Given the description of an element on the screen output the (x, y) to click on. 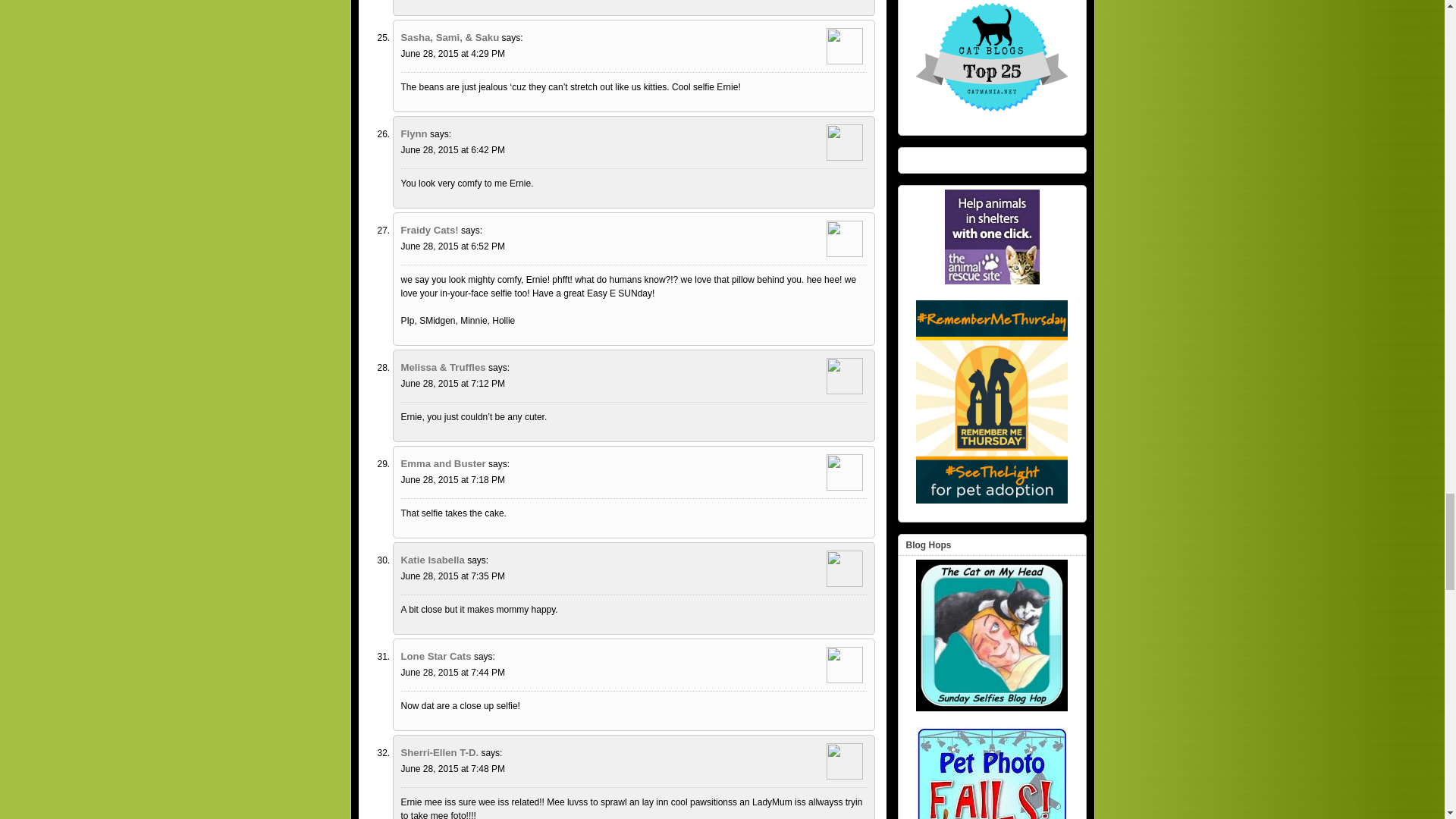
untitled (991, 236)
